Given the description of an element on the screen output the (x, y) to click on. 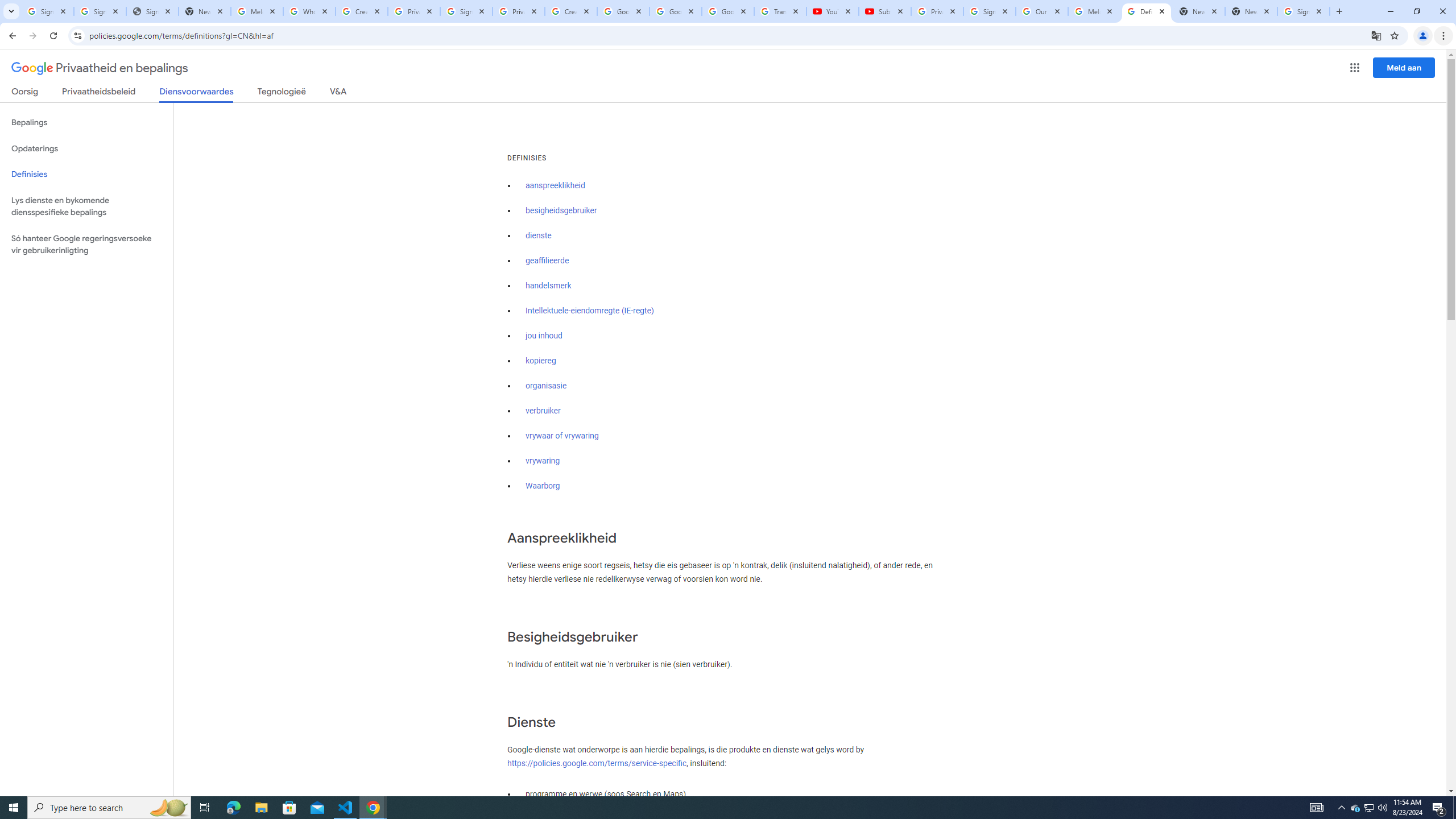
Who is my administrator? - Google Account Help (309, 11)
https://policies.google.com/terms/service-specific (596, 763)
Create your Google Account (361, 11)
aanspreeklikheid (555, 185)
Meld aan (1404, 67)
Sign In - USA TODAY (151, 11)
Create your Google Account (571, 11)
kopiereg (540, 361)
vrywaring (542, 461)
